Given the description of an element on the screen output the (x, y) to click on. 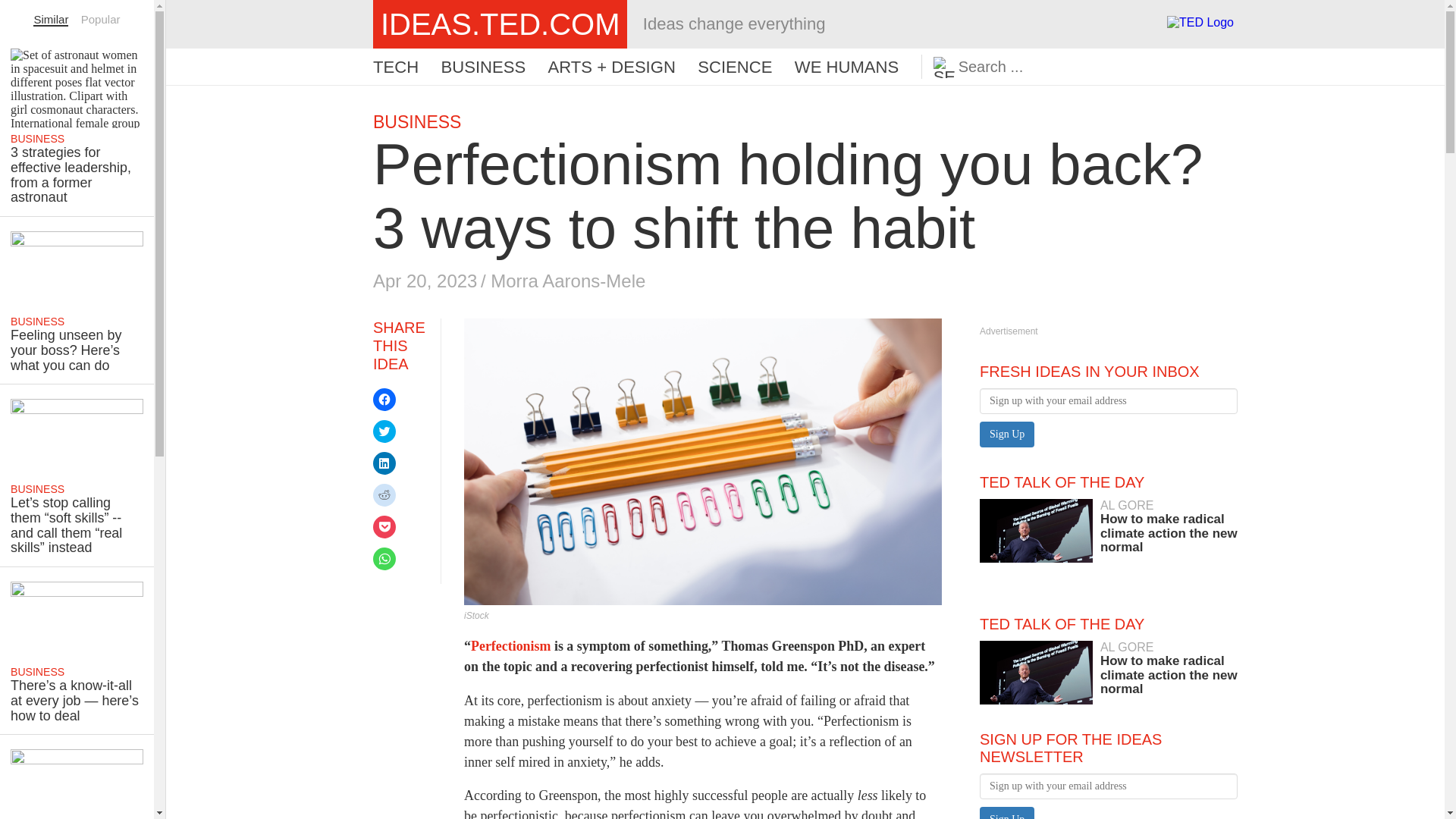
Sign Up (1006, 812)
BUSINESS (416, 121)
Click to share on Twitter (1108, 526)
Click to share on LinkedIn (384, 431)
Click to share on Pocket (384, 463)
BUSINESS (384, 526)
Sign Up (483, 66)
Posts by Morra Aarons-Mele (1006, 812)
Similar (567, 281)
